Given the description of an element on the screen output the (x, y) to click on. 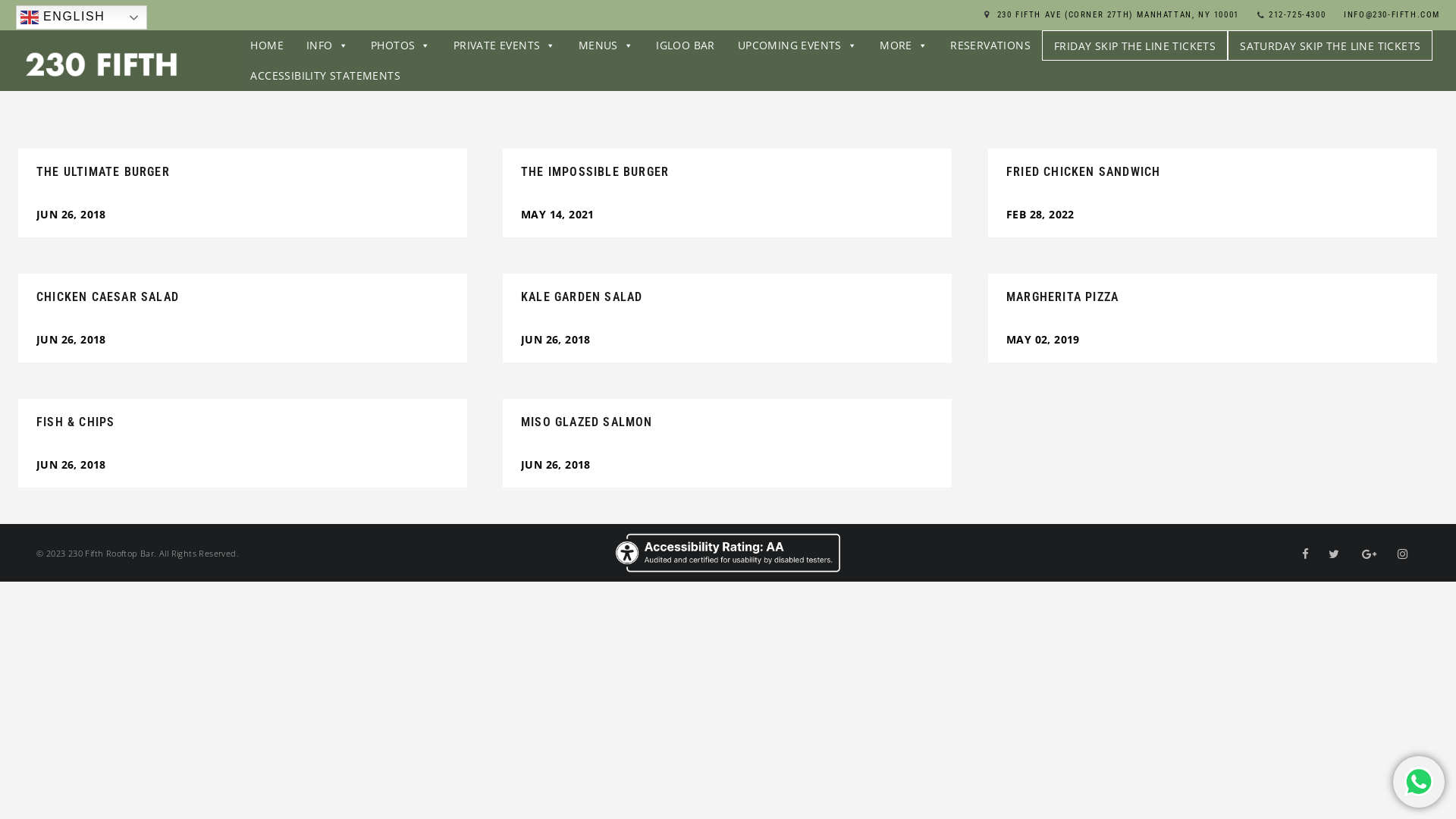
JUN 26, 2018 Element type: text (71, 214)
FRIED CHICKEN SANDWICH Element type: text (1083, 171)
RESERVATIONS Element type: text (989, 45)
MORE Element type: text (903, 45)
Chat Now via WhatsApp Element type: hover (1418, 781)
FISH & CHIPS Element type: text (75, 421)
MENUS Element type: text (605, 45)
INFO Element type: text (326, 45)
IGLOO BAR Element type: text (685, 45)
ENGLISH Element type: text (81, 17)
UPCOMING EVENTS Element type: text (797, 45)
HOME Element type: text (266, 45)
INFO@230-FIFTH.COM Element type: text (1391, 14)
230 FIFTH AVE (CORNER 27TH) MANHATTAN, NY 10001 Element type: text (1118, 14)
MISO GLAZED SALMON Element type: text (586, 421)
CHICKEN CAESAR SALAD Element type: text (107, 296)
MARGHERITA PIZZA Element type: text (1062, 296)
google plus Element type: text (1372, 553)
instagram Element type: text (1405, 553)
PHOTOS Element type: text (400, 45)
FRIDAY SKIP THE LINE TICKETS Element type: text (1134, 45)
212-725-4300 Element type: text (1296, 14)
THE ULTIMATE BURGER Element type: text (102, 171)
tritter Element type: text (1336, 553)
MAY 02, 2019 Element type: text (1042, 339)
JUN 26, 2018 Element type: text (555, 464)
MAY 14, 2021 Element type: text (557, 214)
KALE GARDEN SALAD Element type: text (581, 296)
JUN 26, 2018 Element type: text (71, 464)
PRIVATE EVENTS Element type: text (504, 45)
ACCESSIBILITY STATEMENTS Element type: text (324, 75)
SATURDAY SKIP THE LINE TICKETS Element type: text (1329, 45)
JUN 26, 2018 Element type: text (71, 339)
JUN 26, 2018 Element type: text (555, 339)
facebook Element type: text (1308, 553)
THE IMPOSSIBLE BURGER Element type: text (594, 171)
FEB 28, 2022 Element type: text (1040, 214)
